Given the description of an element on the screen output the (x, y) to click on. 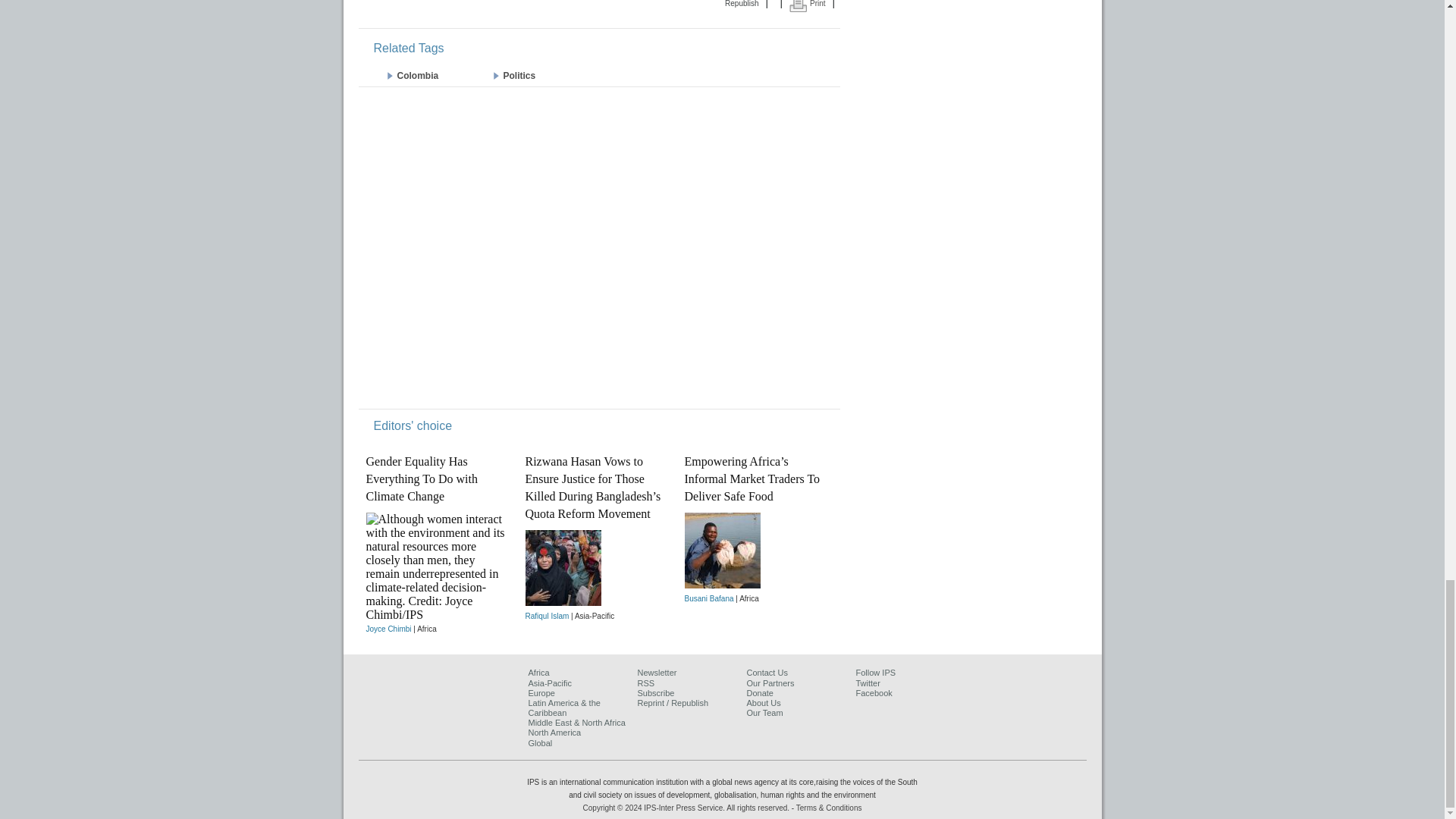
Posts by Busani Bafana (708, 598)
Posts by Rafiqul Islam (546, 615)
Posts by Joyce Chimbi (387, 628)
